Given the description of an element on the screen output the (x, y) to click on. 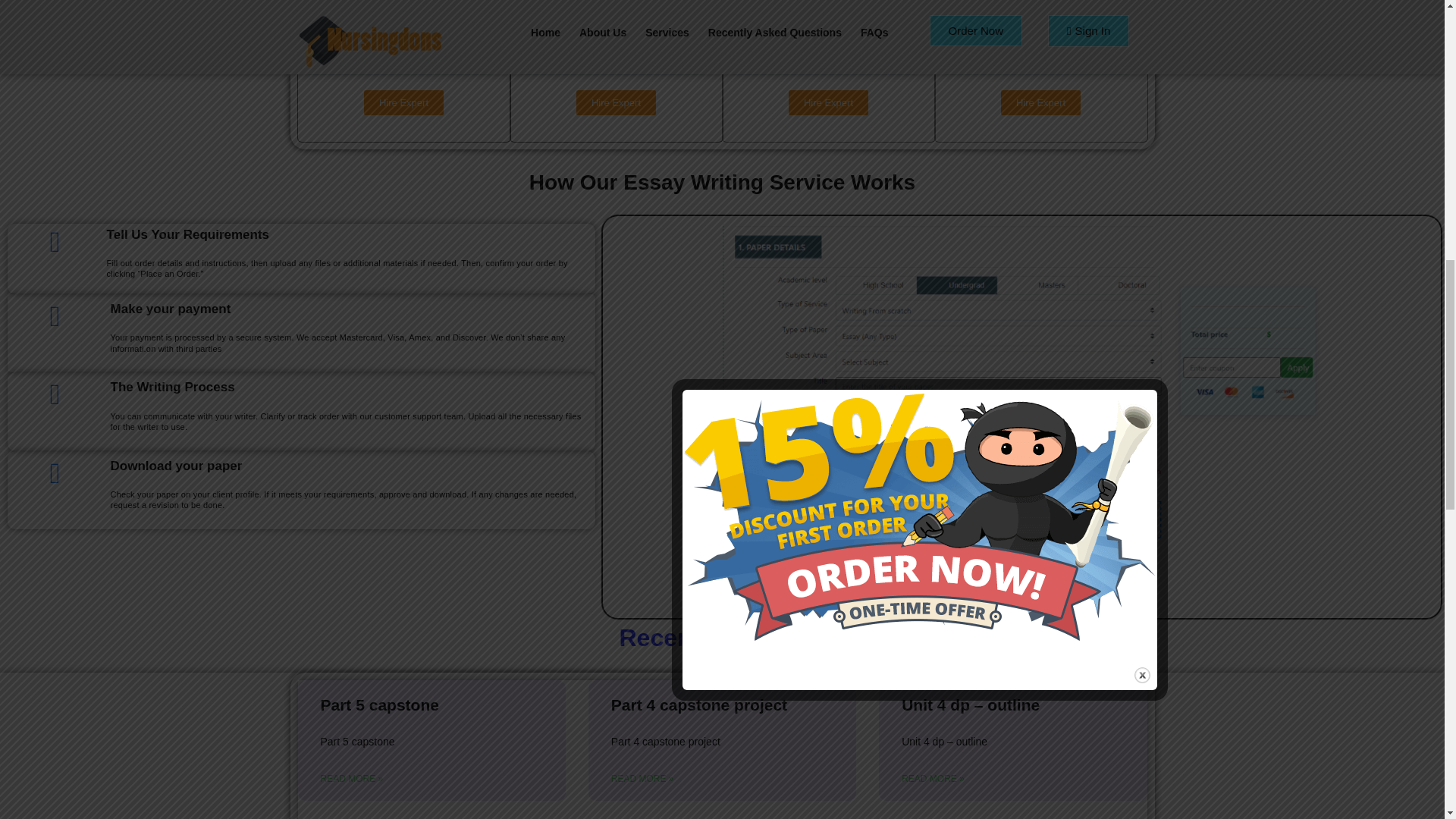
Hire Expert (828, 102)
Hire Expert (1040, 102)
Hire Expert (616, 102)
Part 5 capstone (379, 704)
Part 4 capstone project (699, 704)
Hire Expert (404, 102)
